Given the description of an element on the screen output the (x, y) to click on. 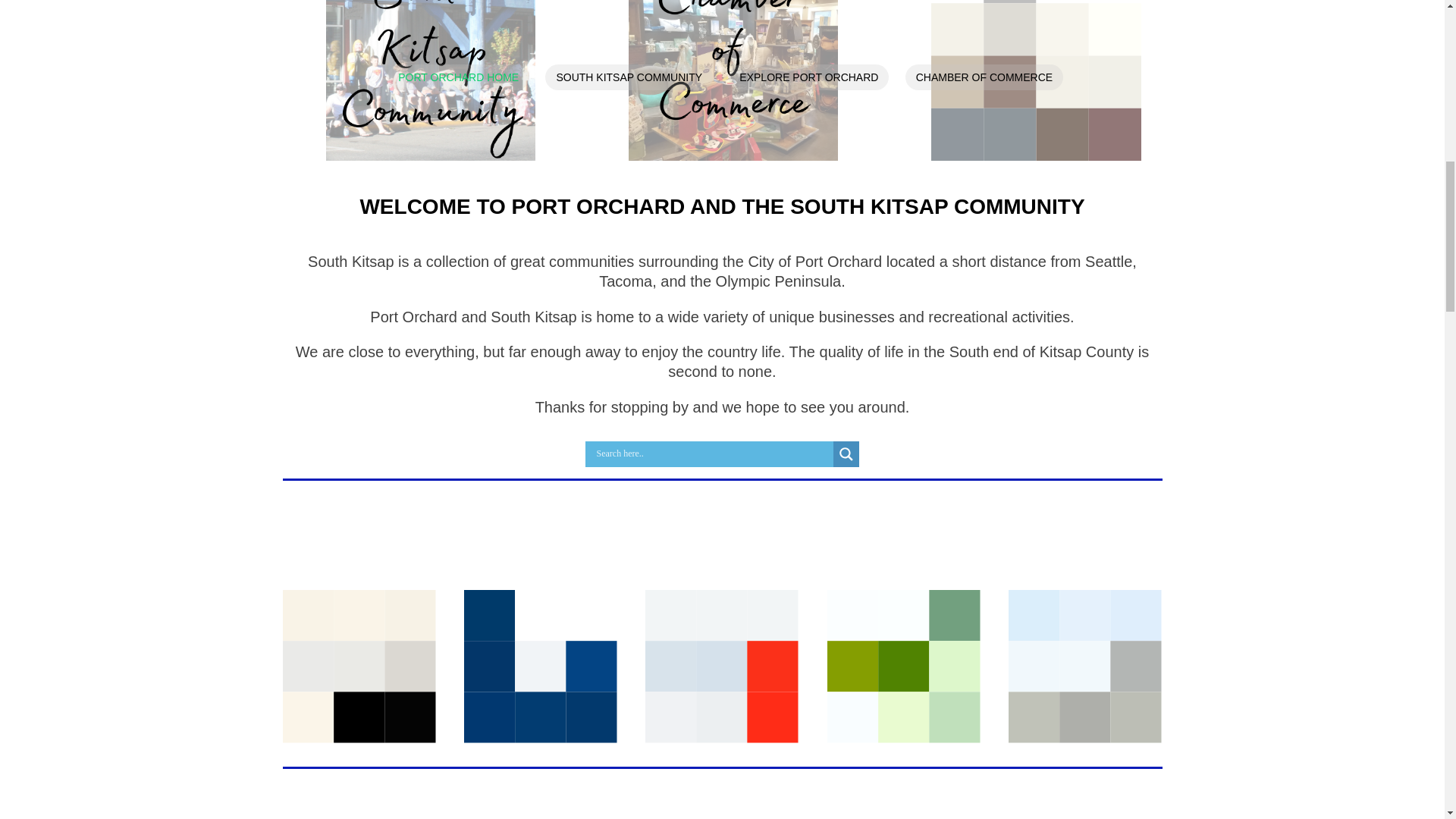
Register to vote Web (540, 665)
Explore PO2 (1036, 80)
Chamber of Commerce2 (733, 80)
Port Orchard GreenDrinks (903, 665)
Map for PO Web (358, 665)
Bethel Road Phase 1 - PO Website (1085, 665)
